Given the description of an element on the screen output the (x, y) to click on. 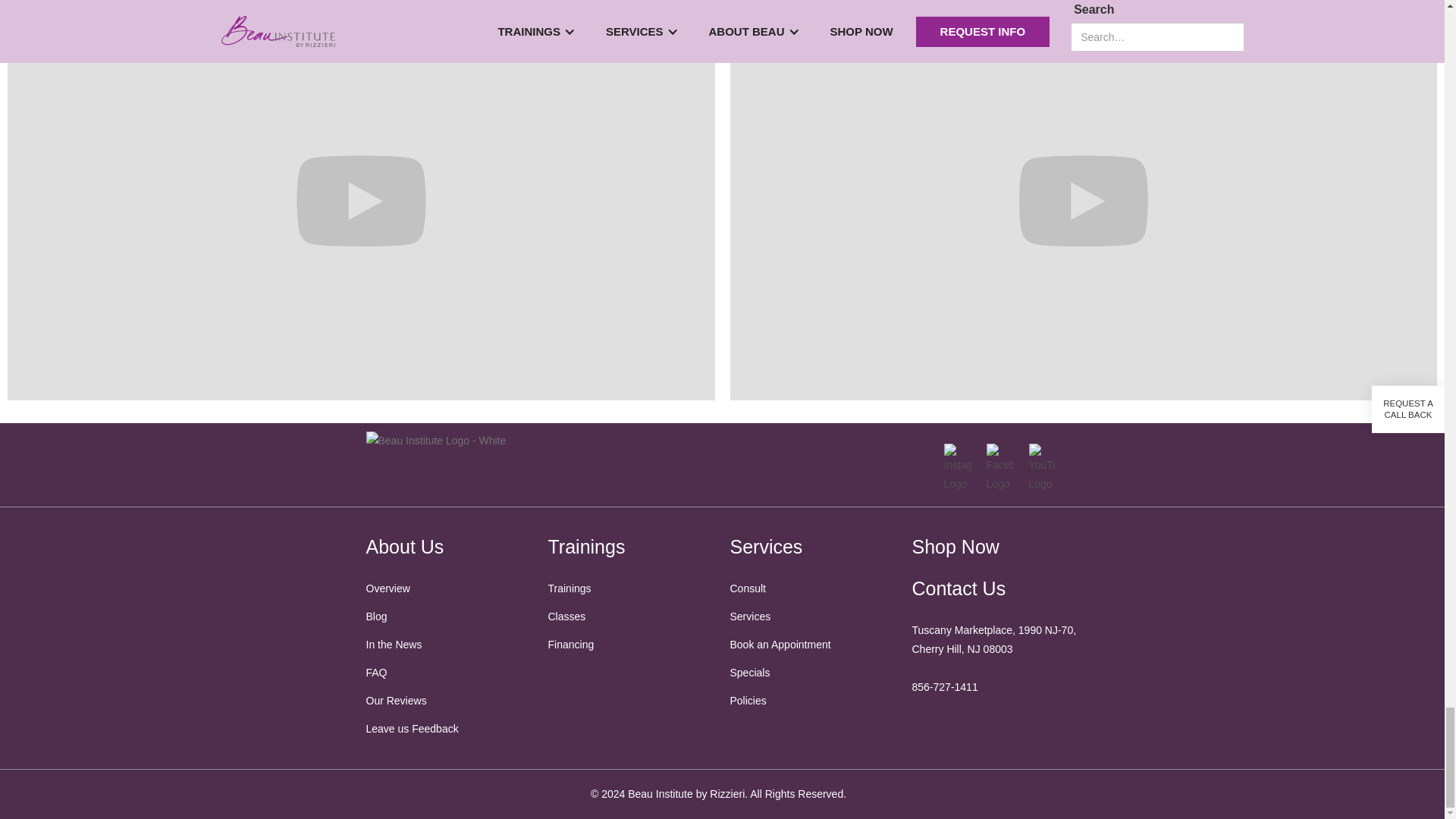
Blog (448, 616)
Overview (448, 588)
Trainings (585, 546)
Leave us Feedback (448, 728)
FAQ (448, 672)
Our Reviews (448, 700)
In the News (448, 644)
About Us (404, 546)
